Given the description of an element on the screen output the (x, y) to click on. 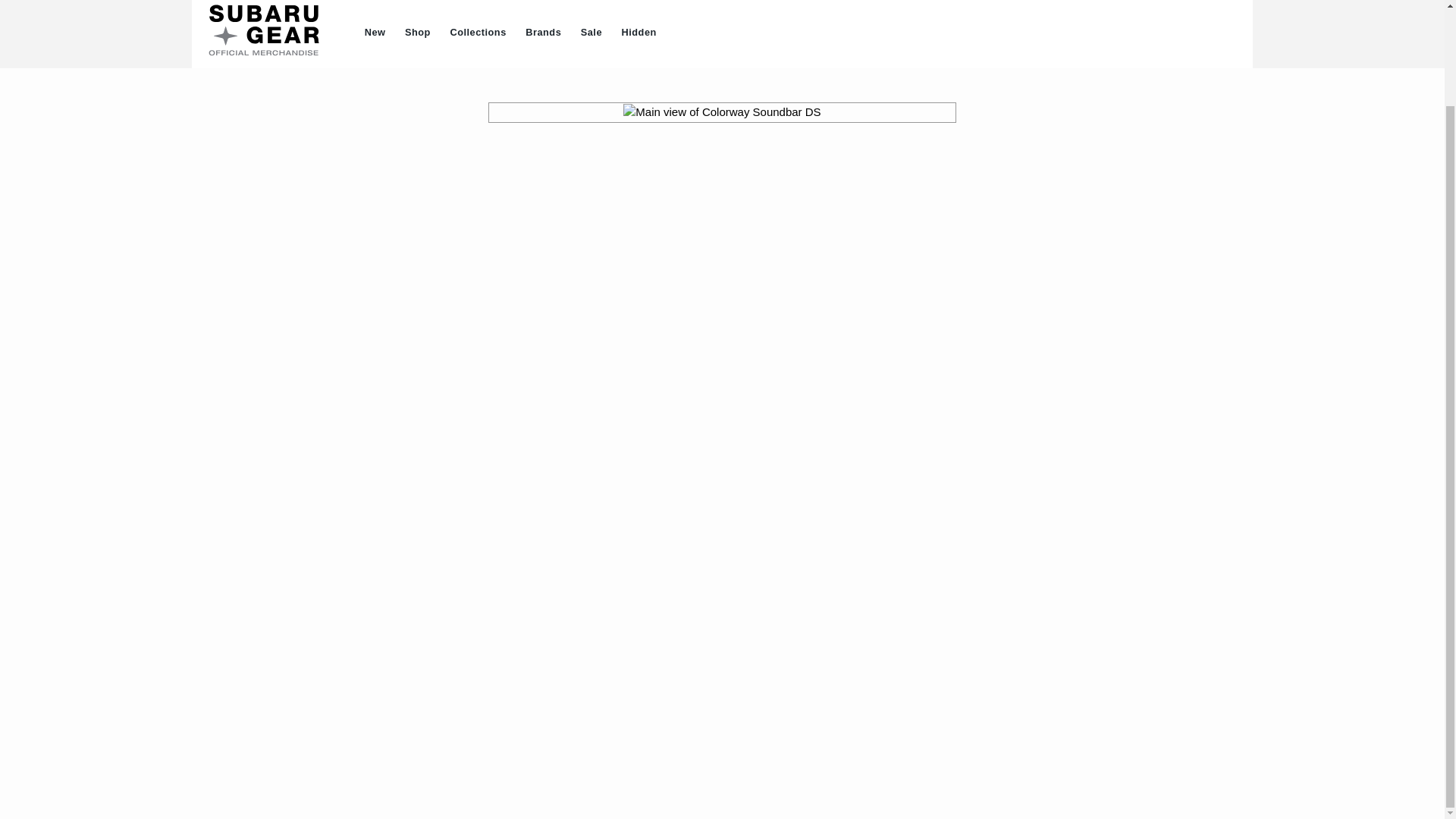
Shop (416, 33)
New (374, 33)
Collections (478, 33)
